Given the description of an element on the screen output the (x, y) to click on. 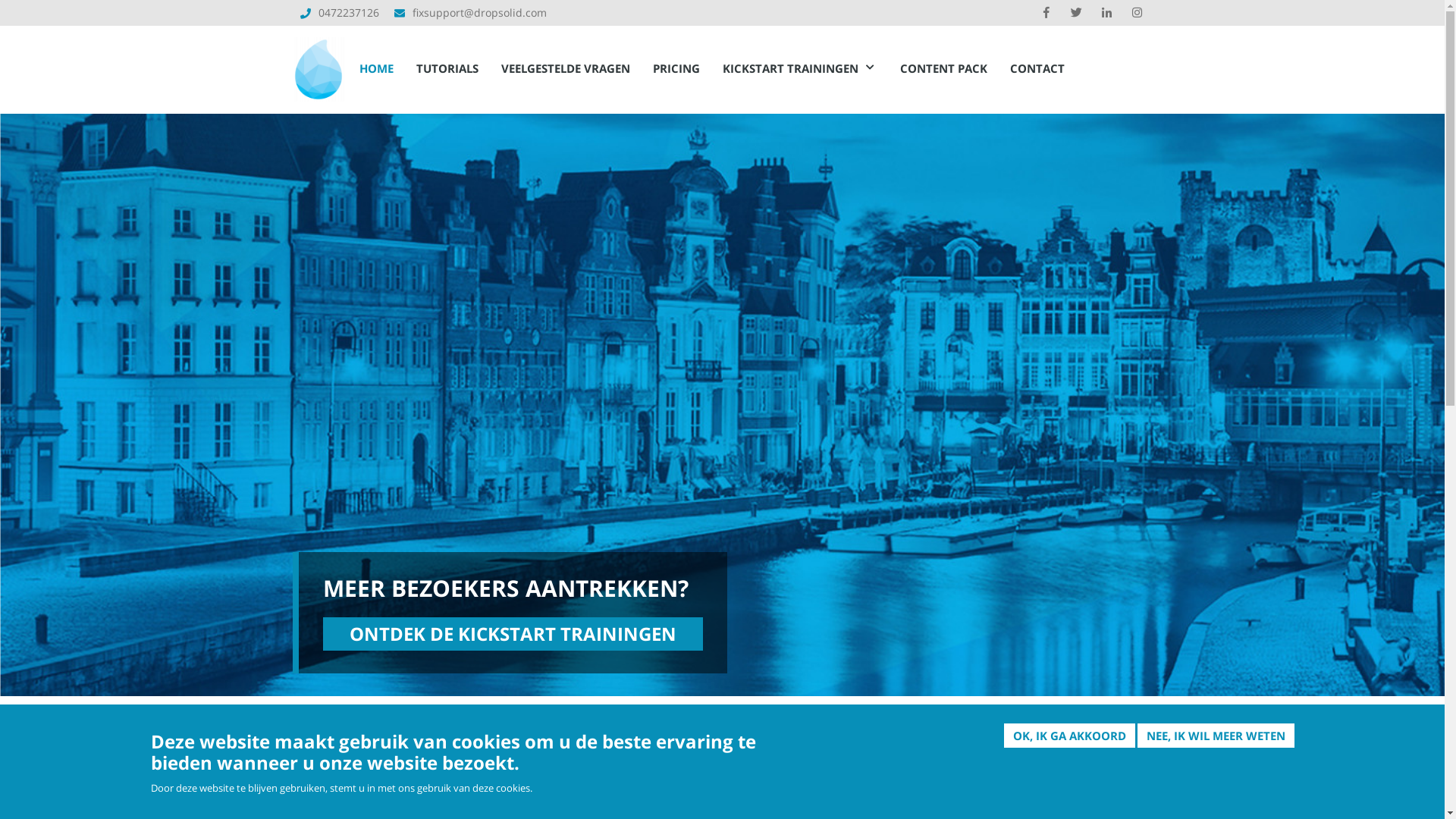
TUTORIALS Element type: text (447, 68)
linkedin Element type: text (1106, 12)
PRICING Element type: text (676, 68)
VEELGESTELDE VRAGEN Element type: text (565, 68)
CONTACT Element type: text (1037, 68)
CONTENT PACK Element type: text (943, 68)
instagram Element type: text (1136, 12)
Kickstart Trainingen Element type: text (513, 798)
OK, IK GA AKKOORD Element type: text (1069, 735)
facebook Element type: text (1045, 12)
ONTDEK DE KICKSTART TRAININGEN Element type: text (512, 633)
veelgestelde vragen Element type: text (558, 785)
NEE, IK WIL MEER WETEN Element type: text (1215, 735)
KICKSTART TRAININGEN Element type: text (799, 68)
twitter Element type: text (1075, 12)
GA NAAR DE VEELGESTELDE VRAGEN Element type: text (1053, 772)
HOME Element type: text (376, 68)
fixsupport@dropsolid.com Element type: text (479, 12)
Home Element type: hover (318, 63)
0472237126 Element type: text (348, 12)
